Given the description of an element on the screen output the (x, y) to click on. 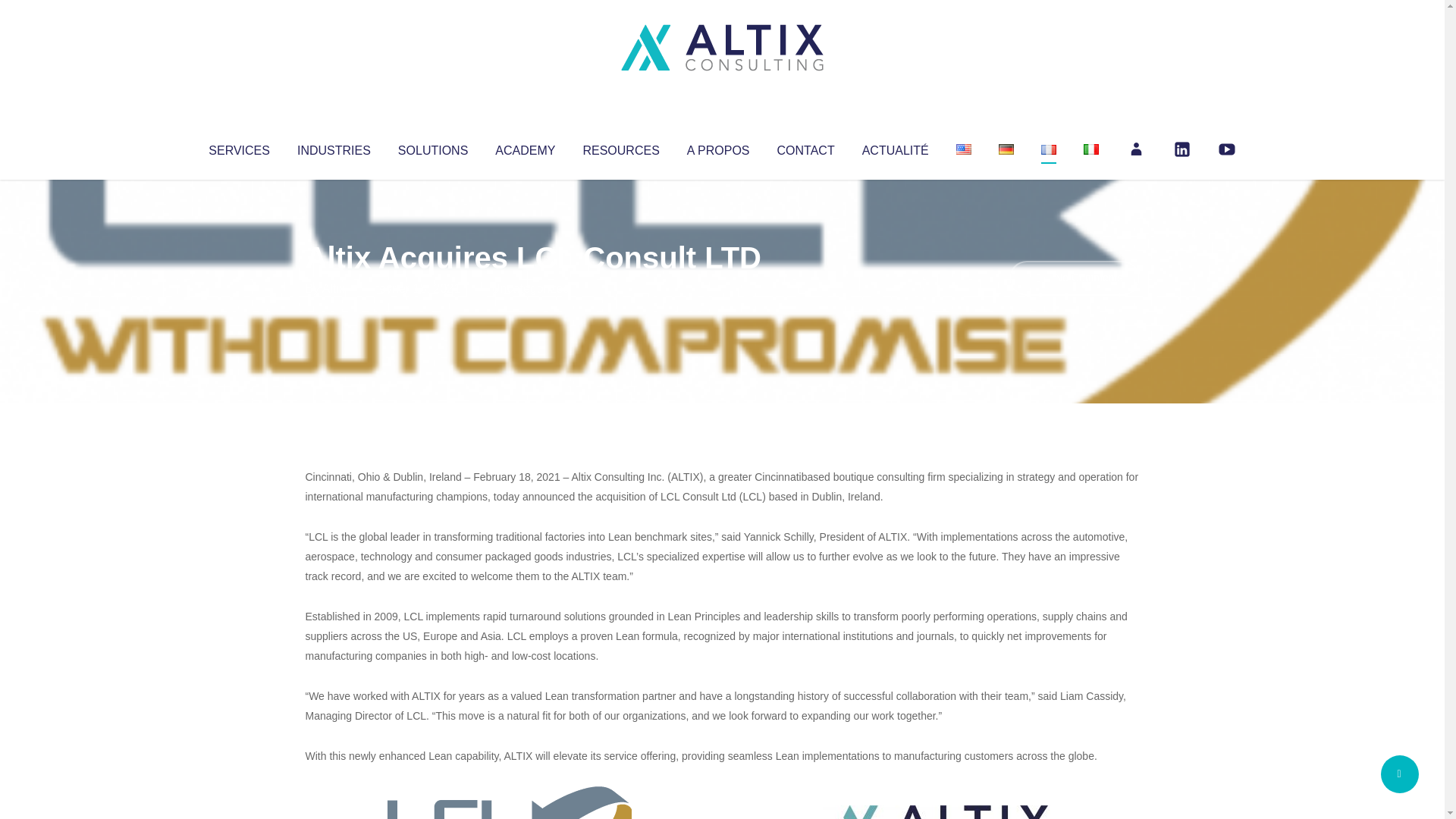
A PROPOS (718, 146)
ACADEMY (524, 146)
SERVICES (238, 146)
Articles par Altix (333, 287)
Altix (333, 287)
INDUSTRIES (334, 146)
Uncategorized (530, 287)
RESOURCES (620, 146)
SOLUTIONS (432, 146)
No Comments (1073, 278)
